Given the description of an element on the screen output the (x, y) to click on. 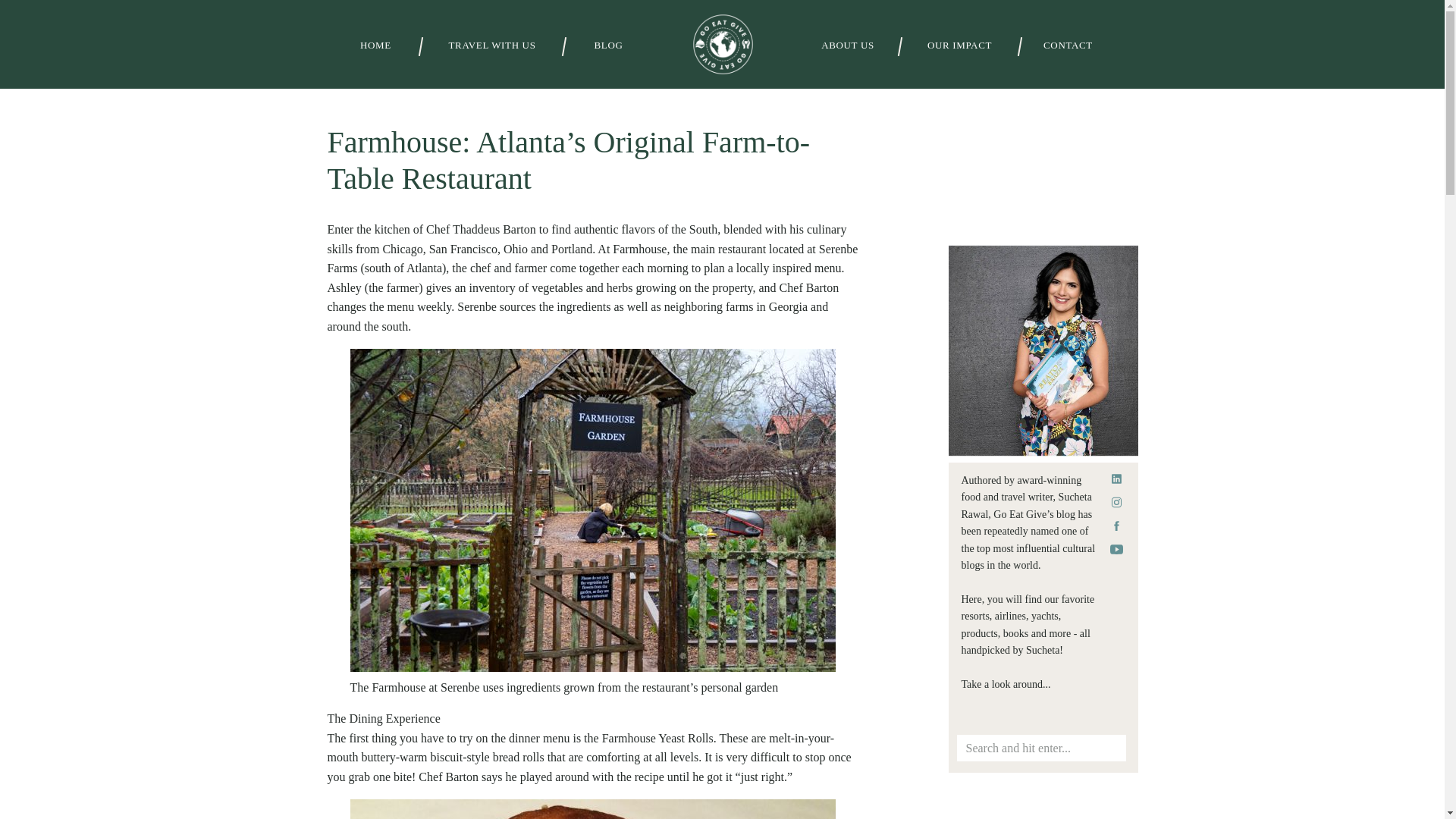
HOME (375, 46)
TRAVEL WITH US (491, 46)
OUR IMPACT (959, 46)
CONTACT (1068, 46)
ABOUT US (847, 46)
BLOG (608, 46)
